Given the description of an element on the screen output the (x, y) to click on. 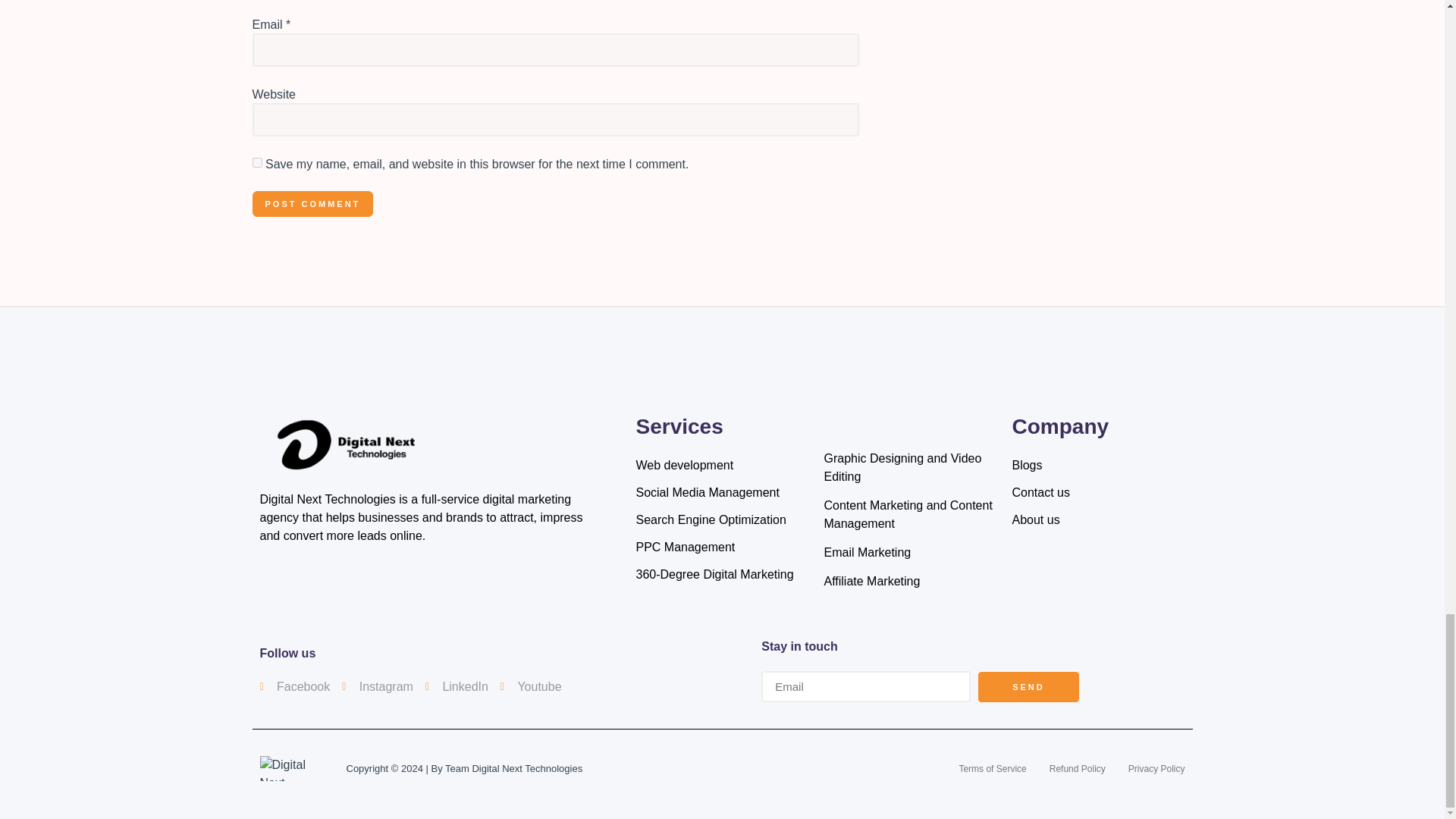
Post Comment (409, 687)
Stay in touch (311, 203)
yes (1098, 492)
Company (814, 647)
Follow us (256, 162)
